Given the description of an element on the screen output the (x, y) to click on. 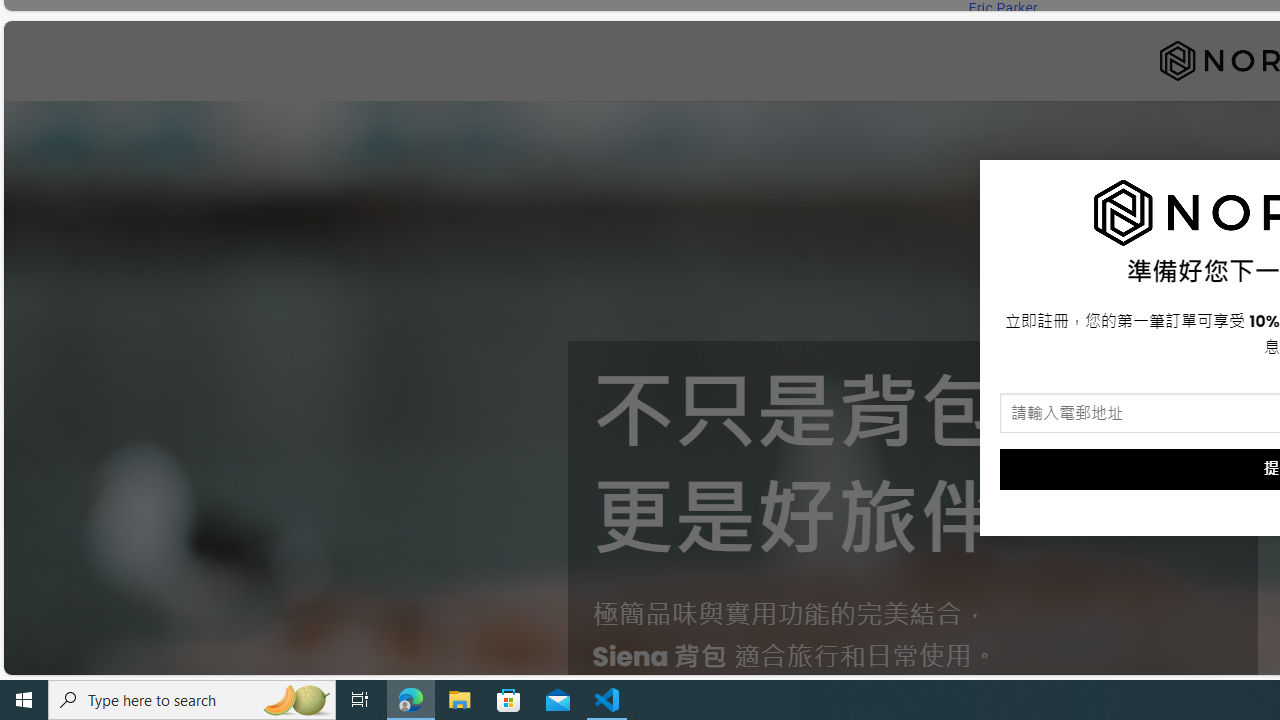
Eric Parker (1002, 8)
